Given the description of an element on the screen output the (x, y) to click on. 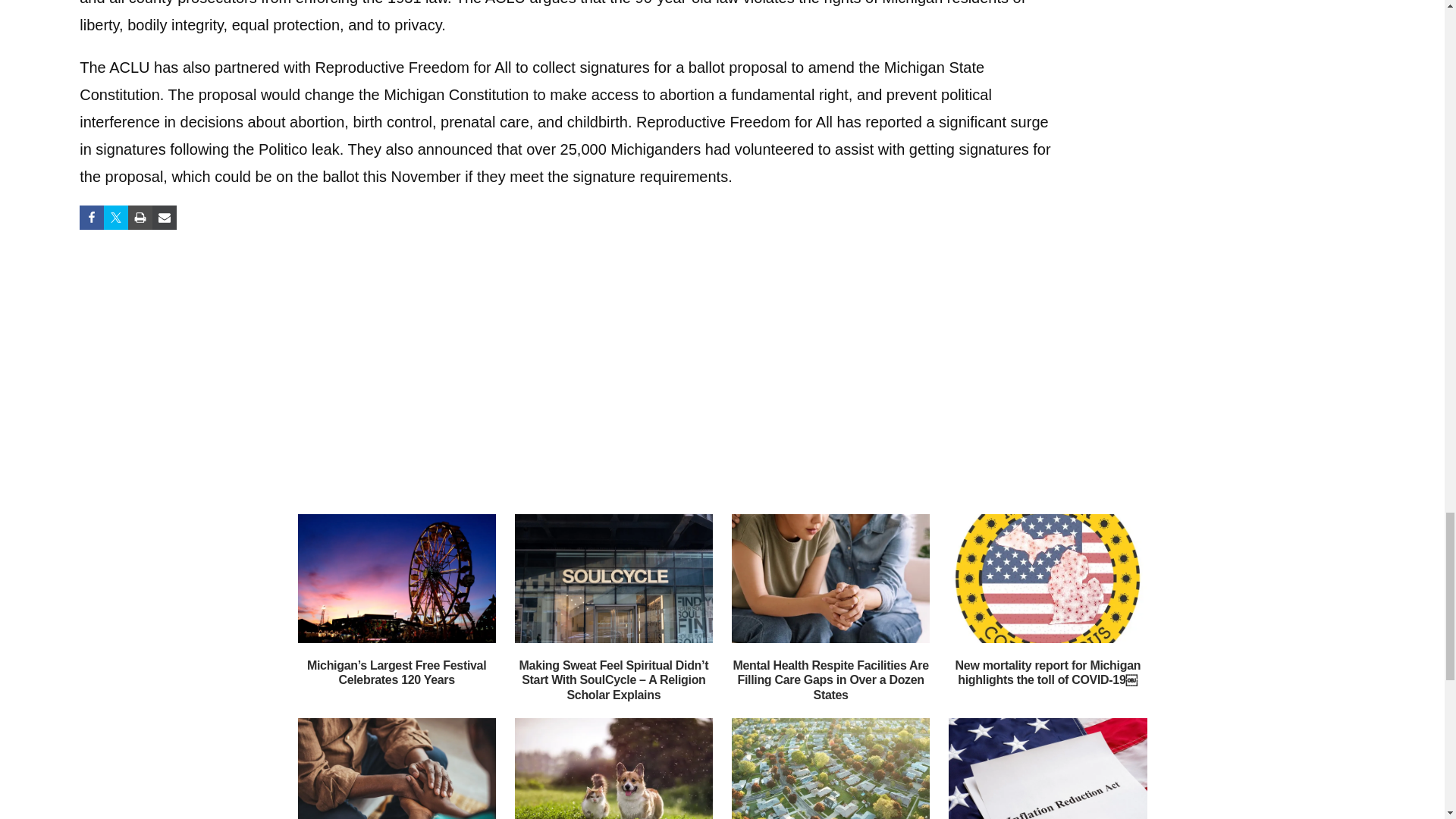
Share via Email (164, 217)
Share on Twitter (115, 217)
Share on Facebook (91, 217)
Print this Page (140, 217)
